Given the description of an element on the screen output the (x, y) to click on. 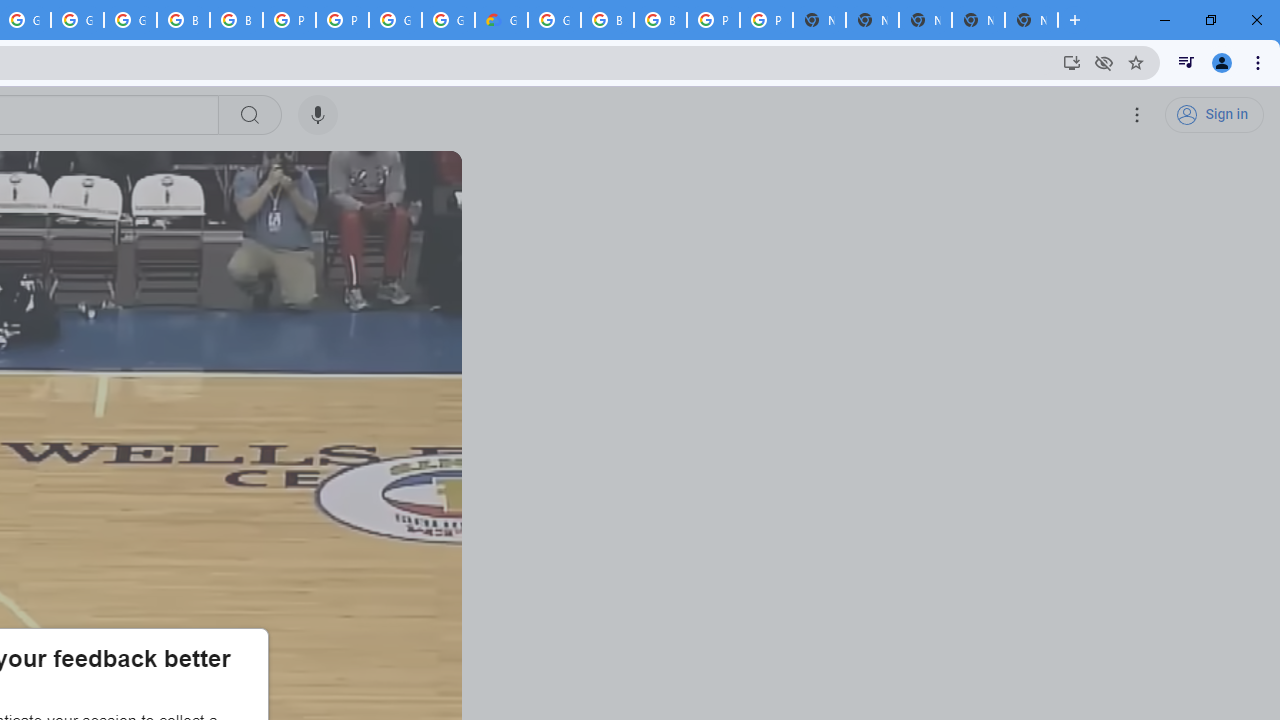
Google Cloud Platform (554, 20)
Settings (1137, 115)
New Tab (1031, 20)
Browse Chrome as a guest - Computer - Google Chrome Help (660, 20)
Settings (1137, 115)
Google Cloud Platform (395, 20)
Install YouTube (1071, 62)
Search with your voice (317, 115)
